Given the description of an element on the screen output the (x, y) to click on. 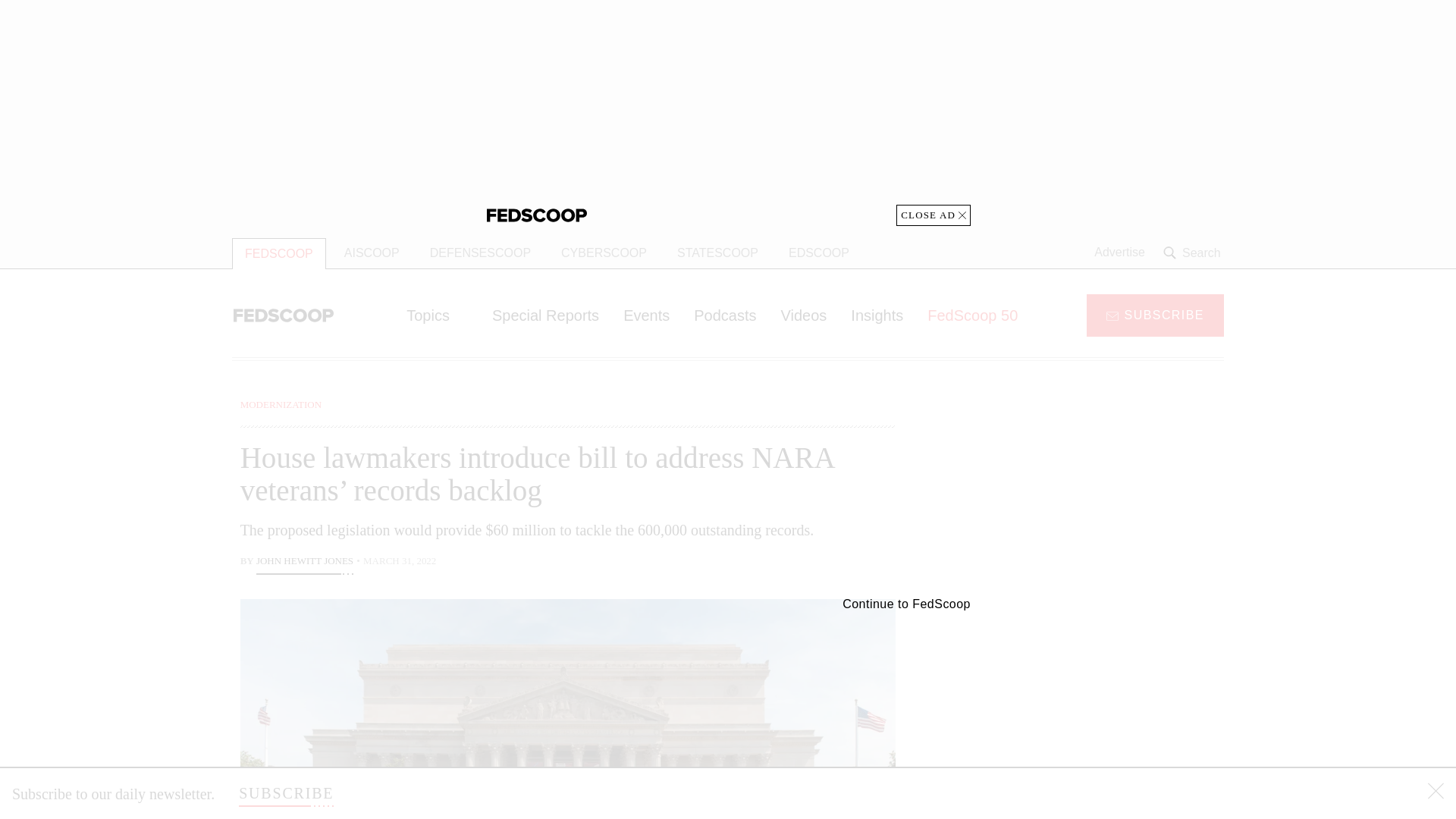
3rd party ad content (1101, 705)
Topics (437, 315)
John Hewitt Jones (304, 562)
AISCOOP (371, 253)
Videos (804, 315)
Advertise (1119, 252)
Special Reports (545, 315)
FEDSCOOP (278, 253)
3rd party ad content (1101, 492)
FedScoop 50 (972, 315)
